Given the description of an element on the screen output the (x, y) to click on. 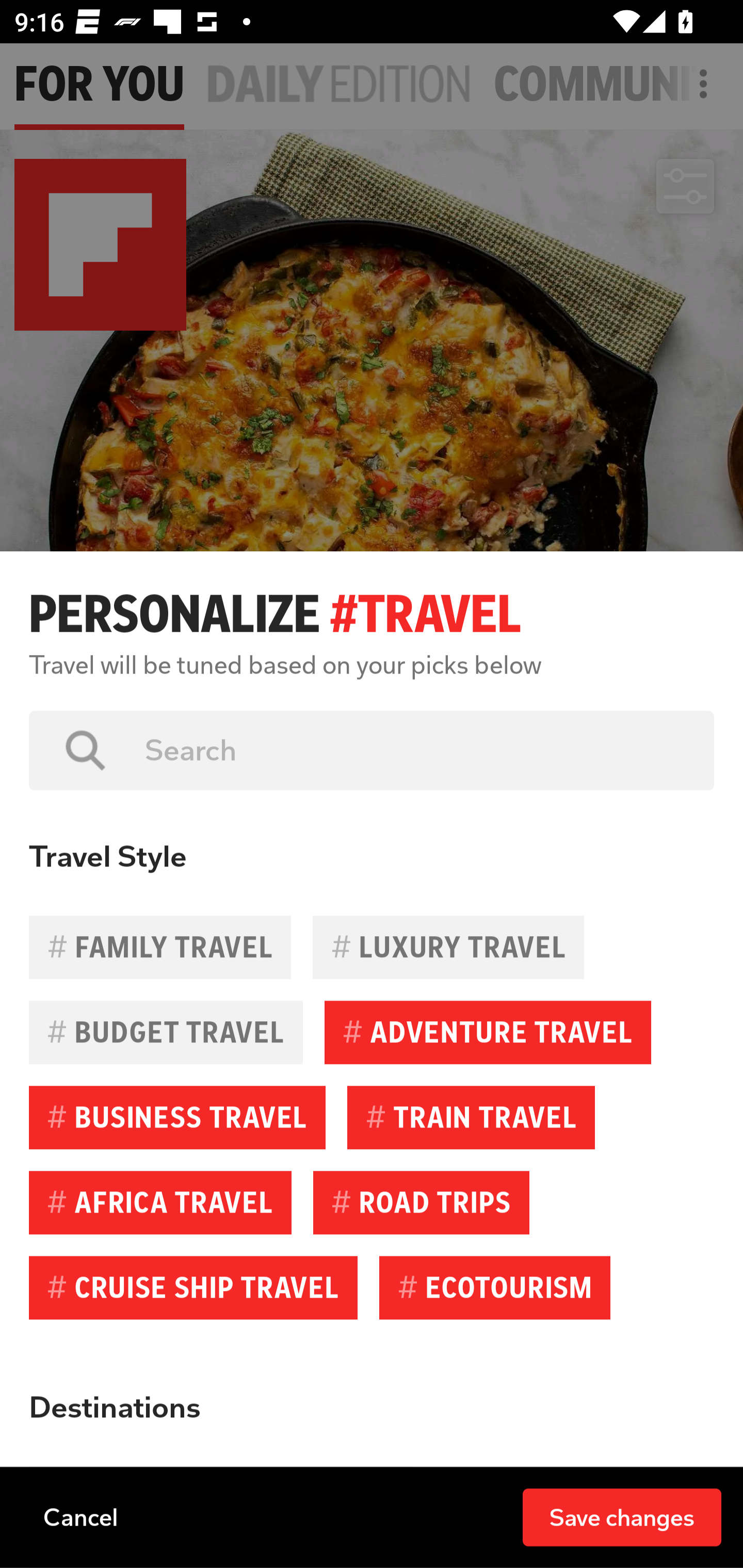
Search (414, 750)
# FAMILY TRAVEL (159, 946)
# LUXURY TRAVEL (447, 946)
# BUDGET TRAVEL (165, 1032)
# ADVENTURE TRAVEL (487, 1032)
# BUSINESS TRAVEL (176, 1117)
# TRAIN TRAVEL (470, 1117)
# AFRICA TRAVEL (159, 1202)
# ROAD TRIPS (421, 1202)
# CRUISE SHIP TRAVEL (192, 1286)
# ECOTOURISM (494, 1286)
NPR · 11h Flip into Magazine (185, 1437)
Cancel (80, 1516)
Save changes (621, 1517)
